Given the description of an element on the screen output the (x, y) to click on. 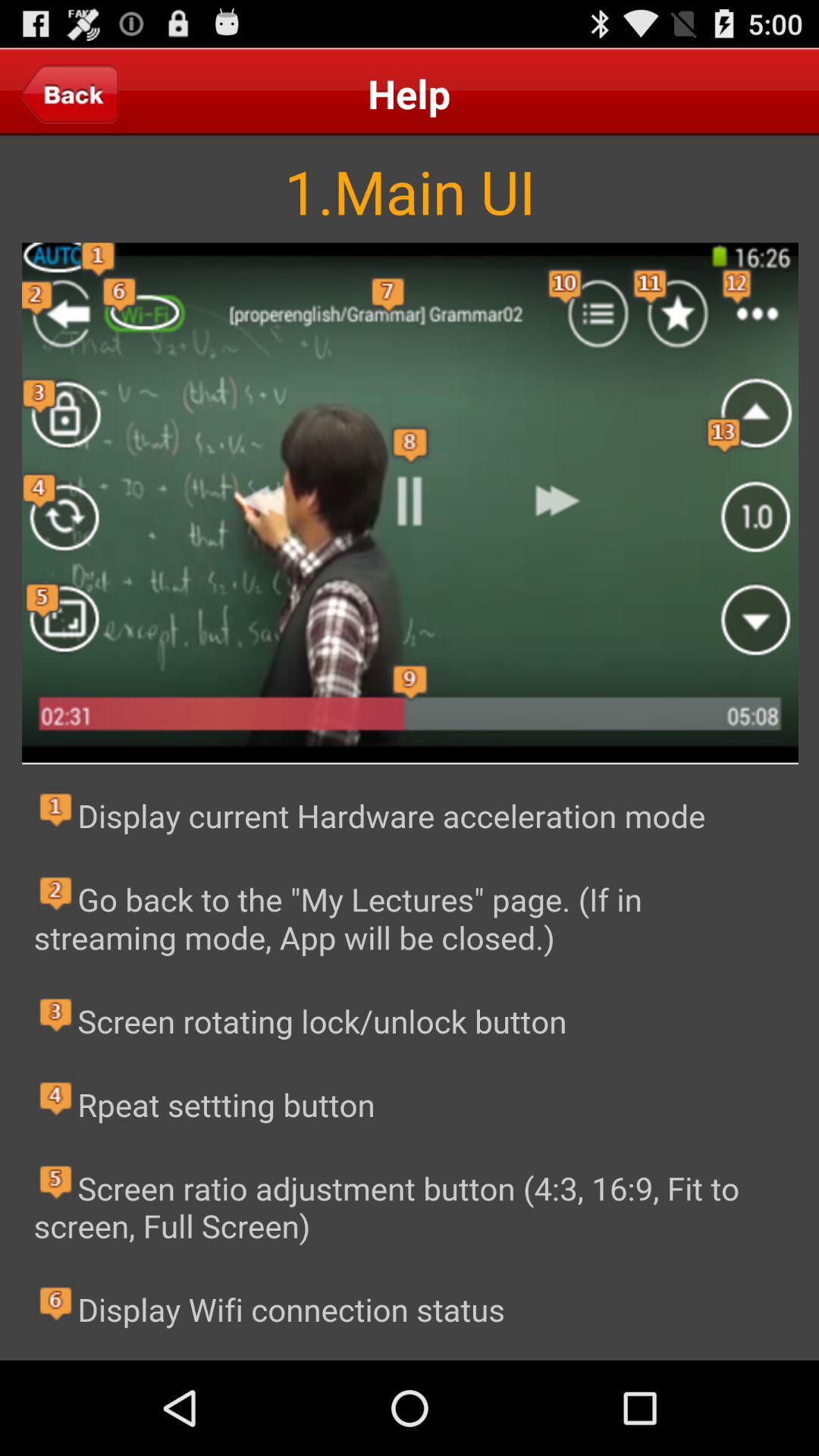
back to previous (69, 93)
